Given the description of an element on the screen output the (x, y) to click on. 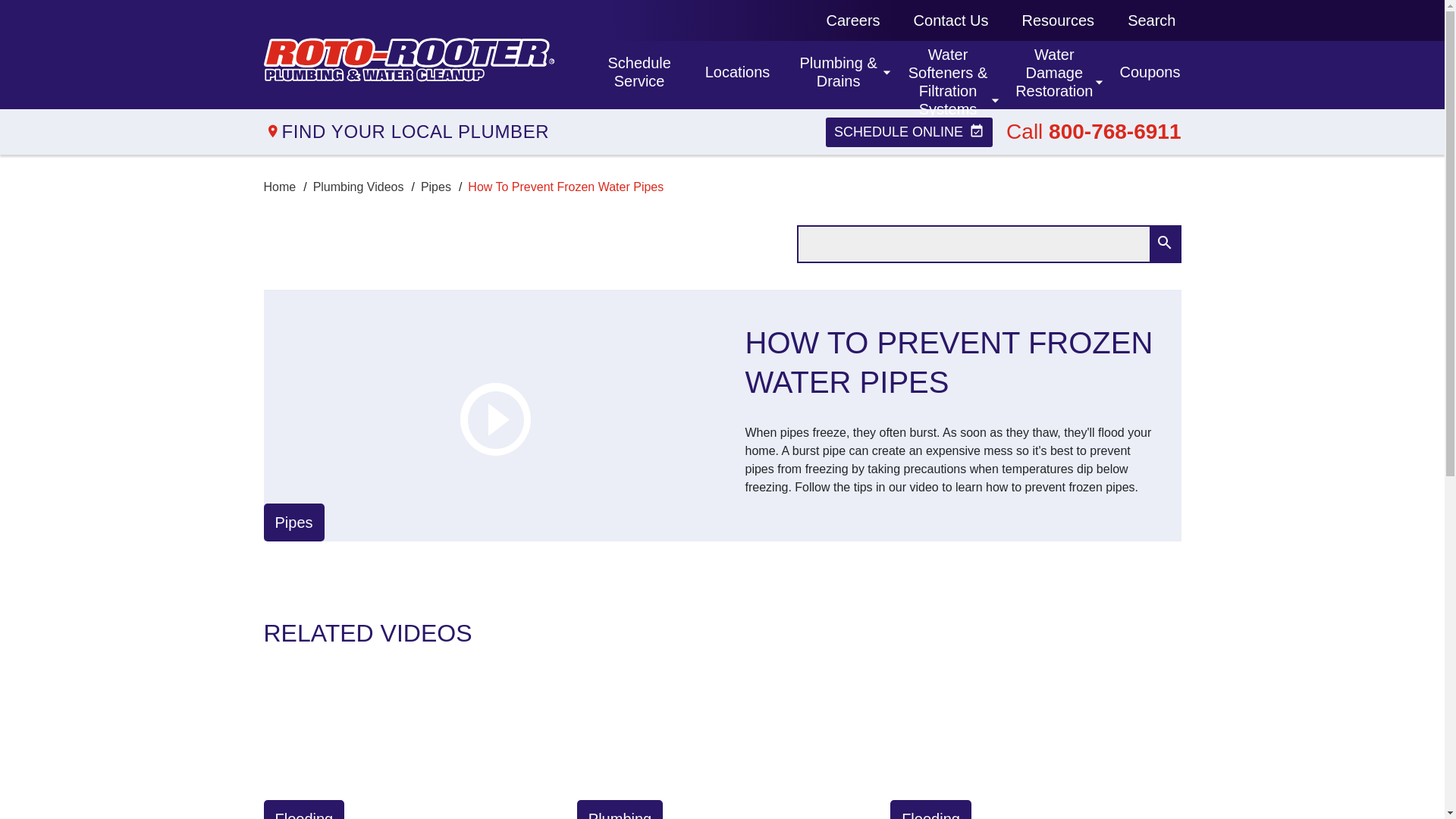
Locations (736, 74)
Contact Us (951, 20)
Careers (852, 20)
Resources (1059, 20)
Search (1053, 75)
